Given the description of an element on the screen output the (x, y) to click on. 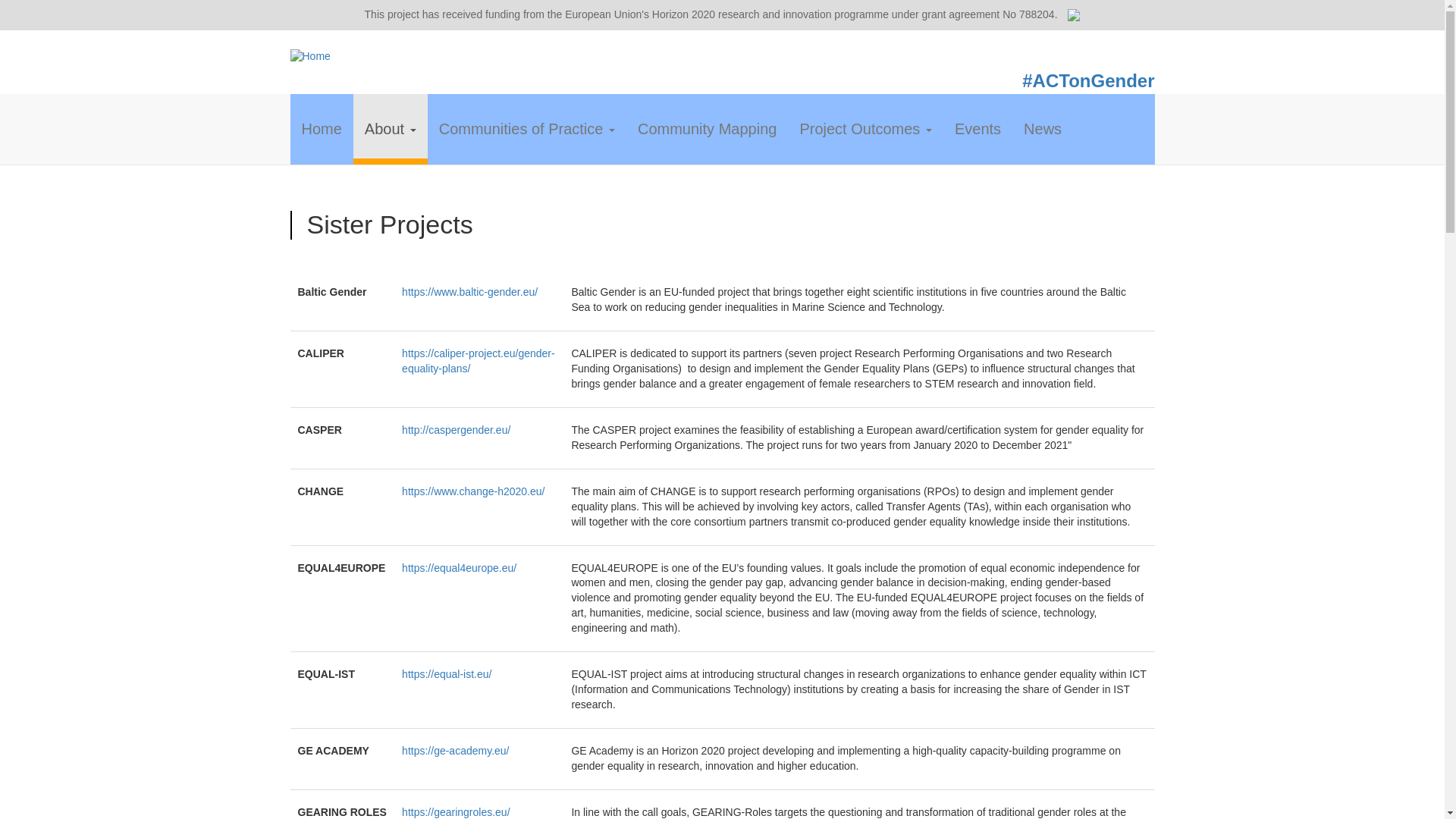
Communities of Practice (527, 127)
Home (505, 56)
Events (977, 127)
Community Mapping (706, 127)
News (1042, 127)
Project Outcomes (865, 127)
About (390, 129)
Home (320, 127)
